Given the description of an element on the screen output the (x, y) to click on. 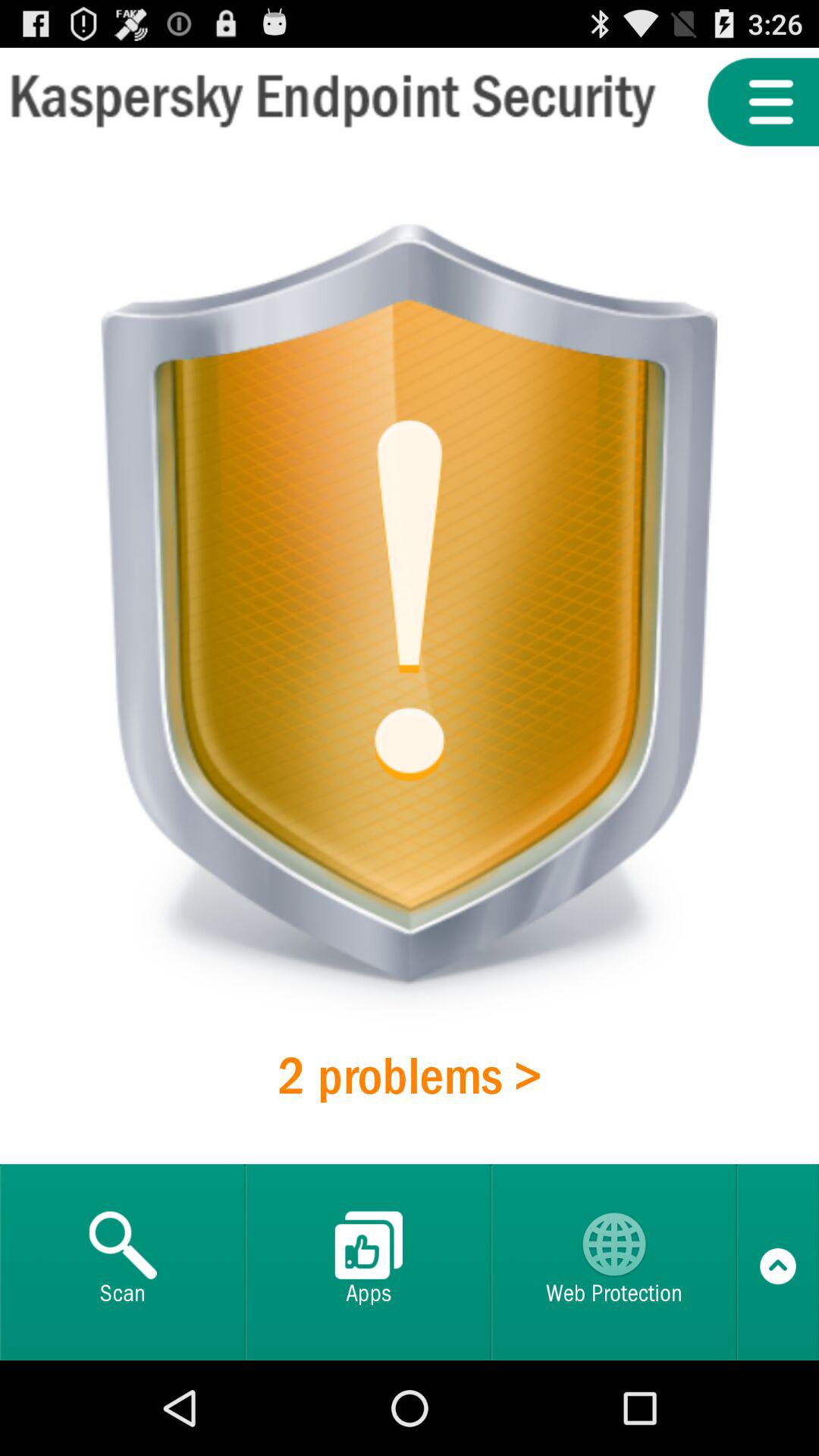
menu (762, 102)
